Given the description of an element on the screen output the (x, y) to click on. 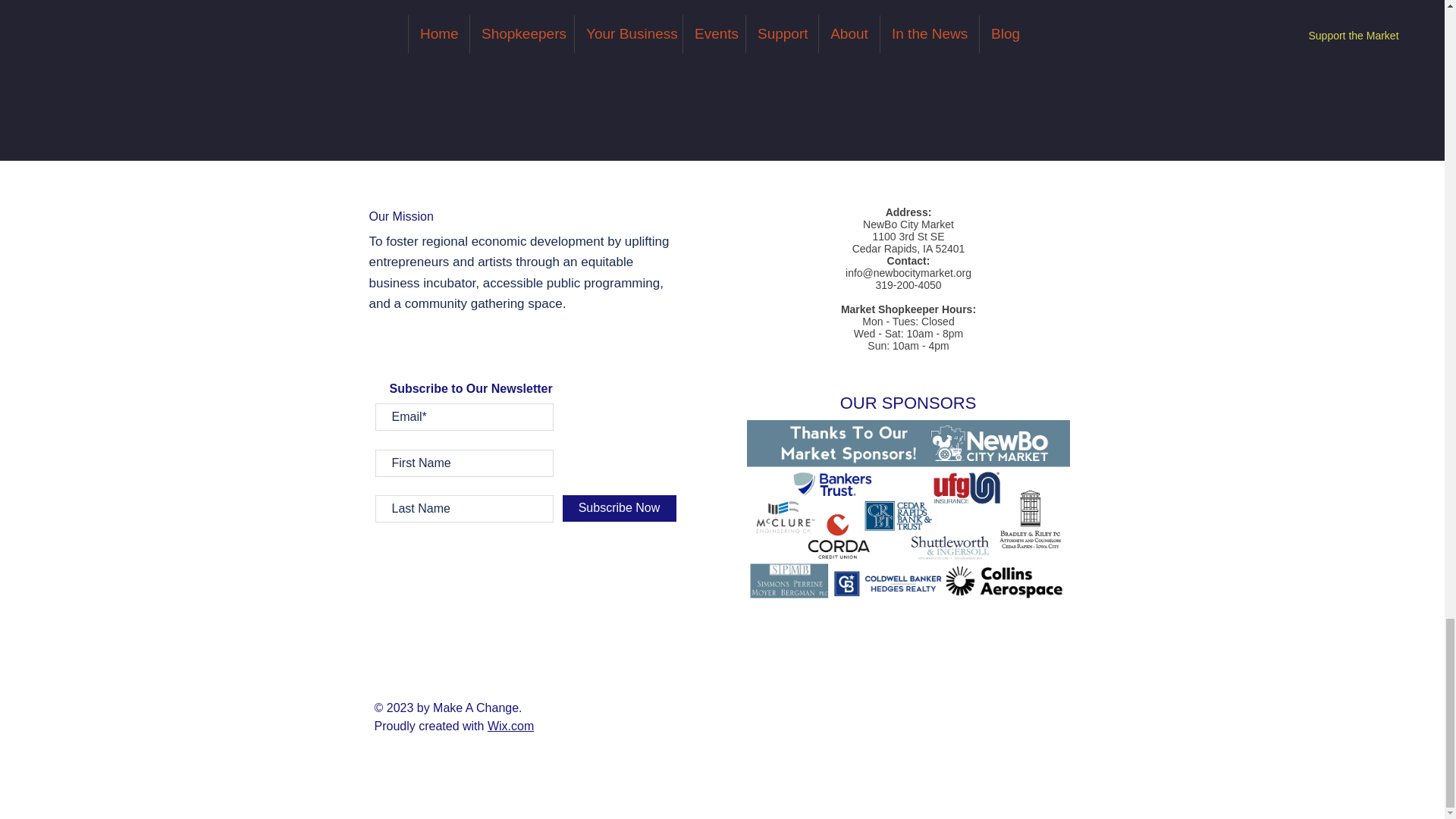
Subscribe Now (619, 508)
Wix.com (510, 725)
